Given the description of an element on the screen output the (x, y) to click on. 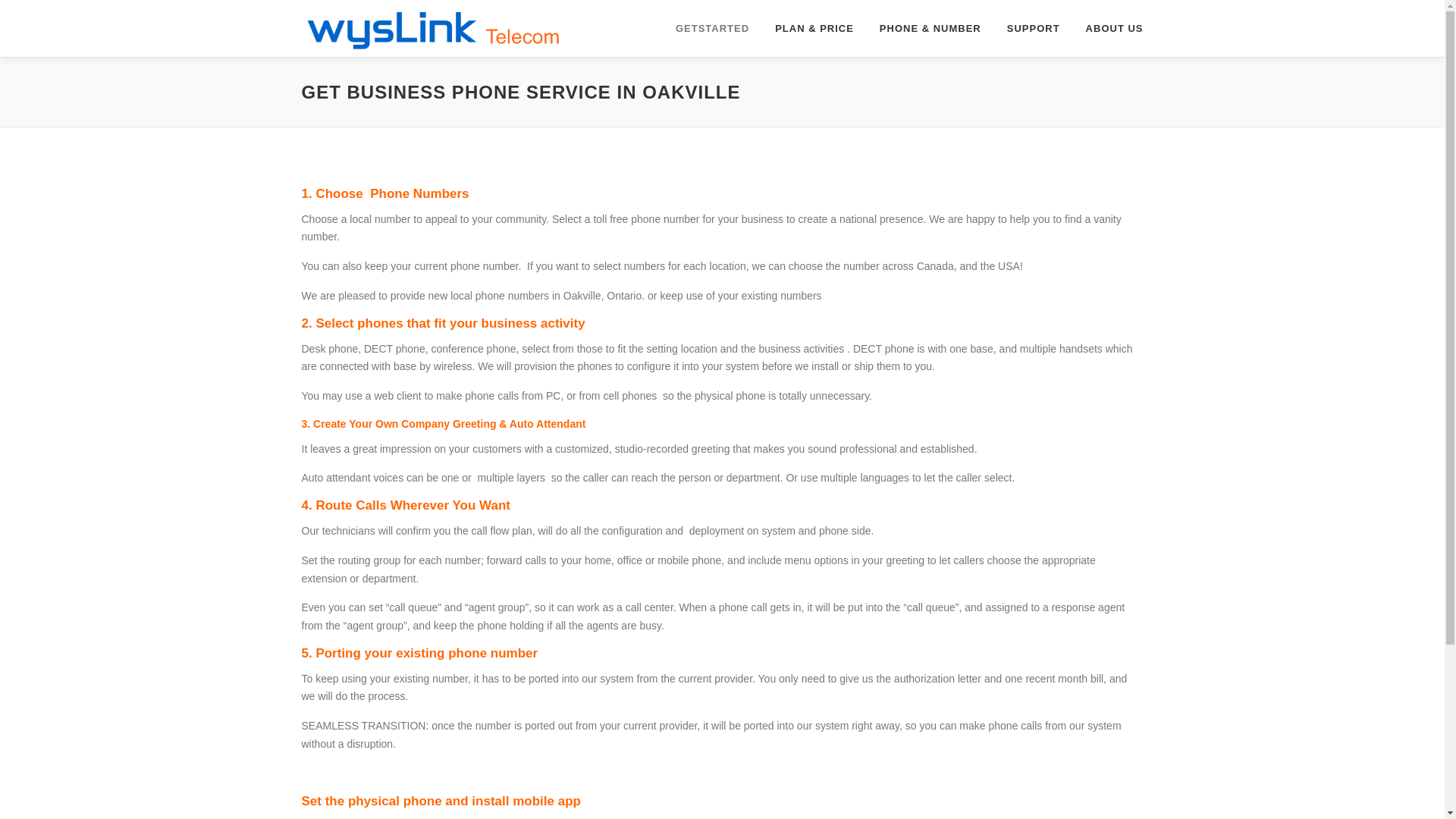
GETSTARTED (711, 28)
SUPPORT (1033, 28)
ABOUT US (1107, 28)
